Given the description of an element on the screen output the (x, y) to click on. 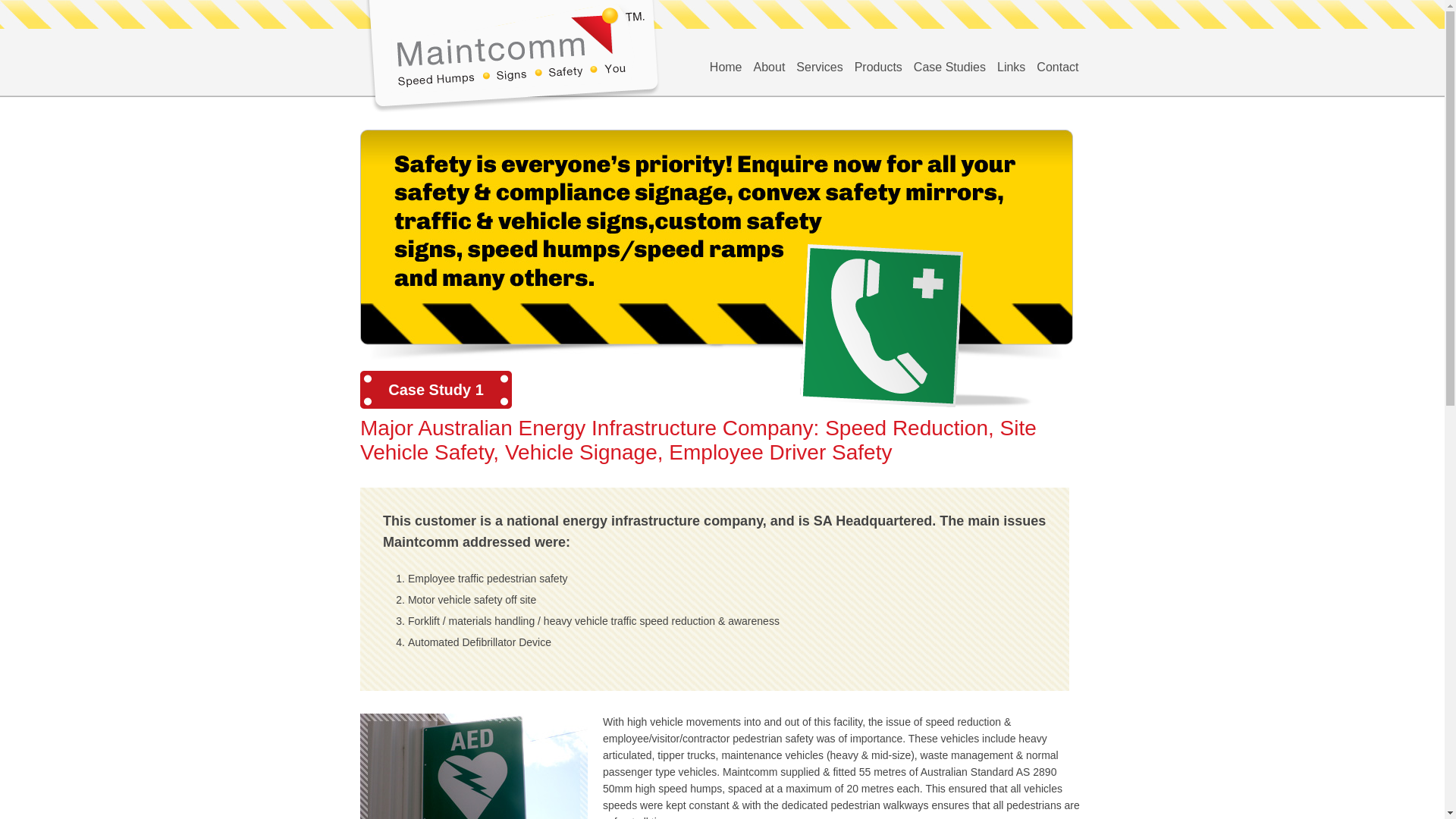
Contact Element type: text (1057, 67)
Home Element type: text (725, 67)
Links Element type: text (1011, 67)
About Element type: text (769, 67)
Products Element type: text (878, 67)
Services Element type: text (819, 67)
Case Studies Element type: text (949, 67)
